Given the description of an element on the screen output the (x, y) to click on. 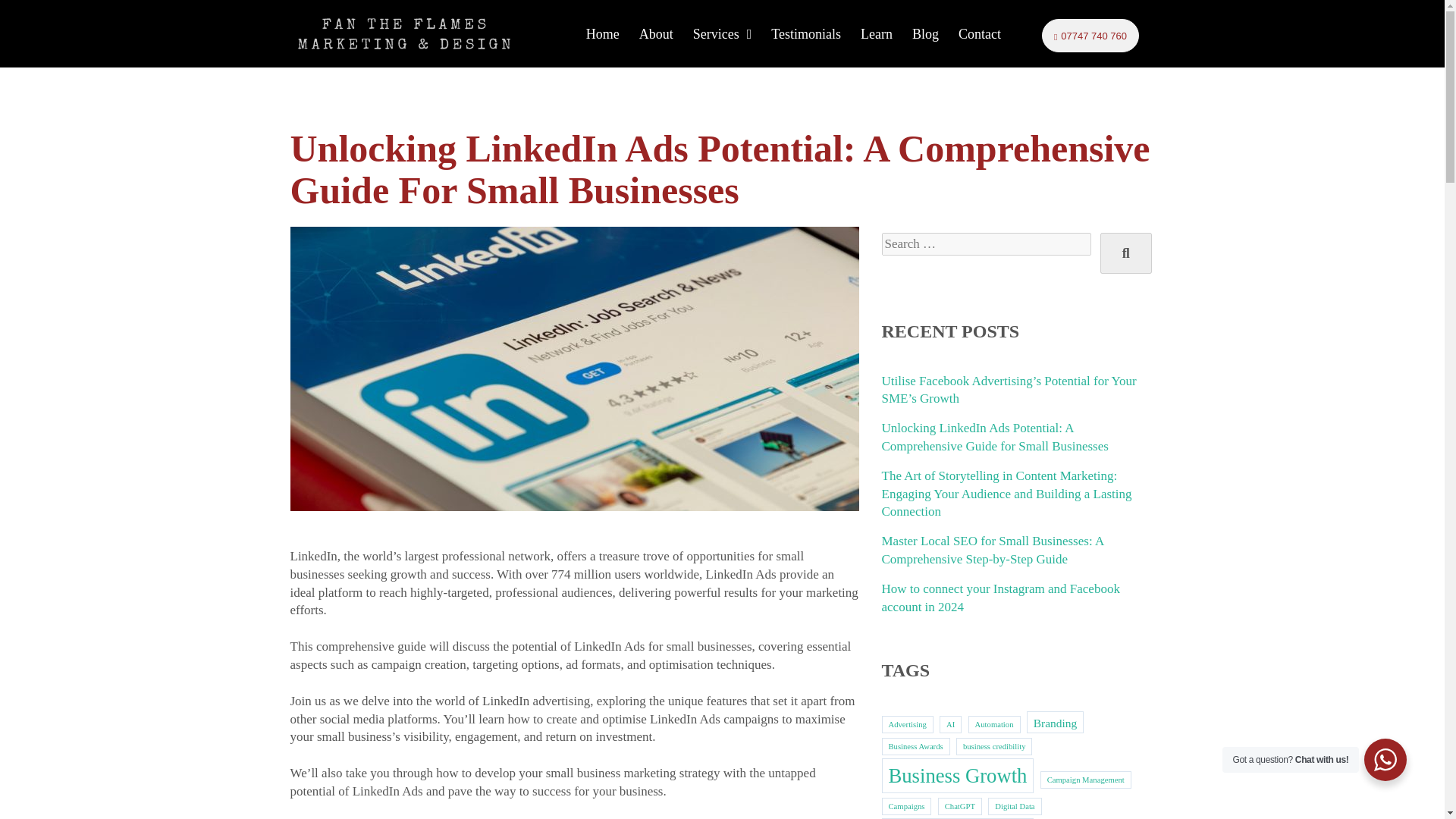
Home (602, 33)
Business Growth (956, 775)
Business Awards (914, 746)
Advertising (906, 724)
Blog (925, 33)
Branding (1055, 722)
AI (949, 724)
About (655, 33)
Campaigns (905, 805)
